Given the description of an element on the screen output the (x, y) to click on. 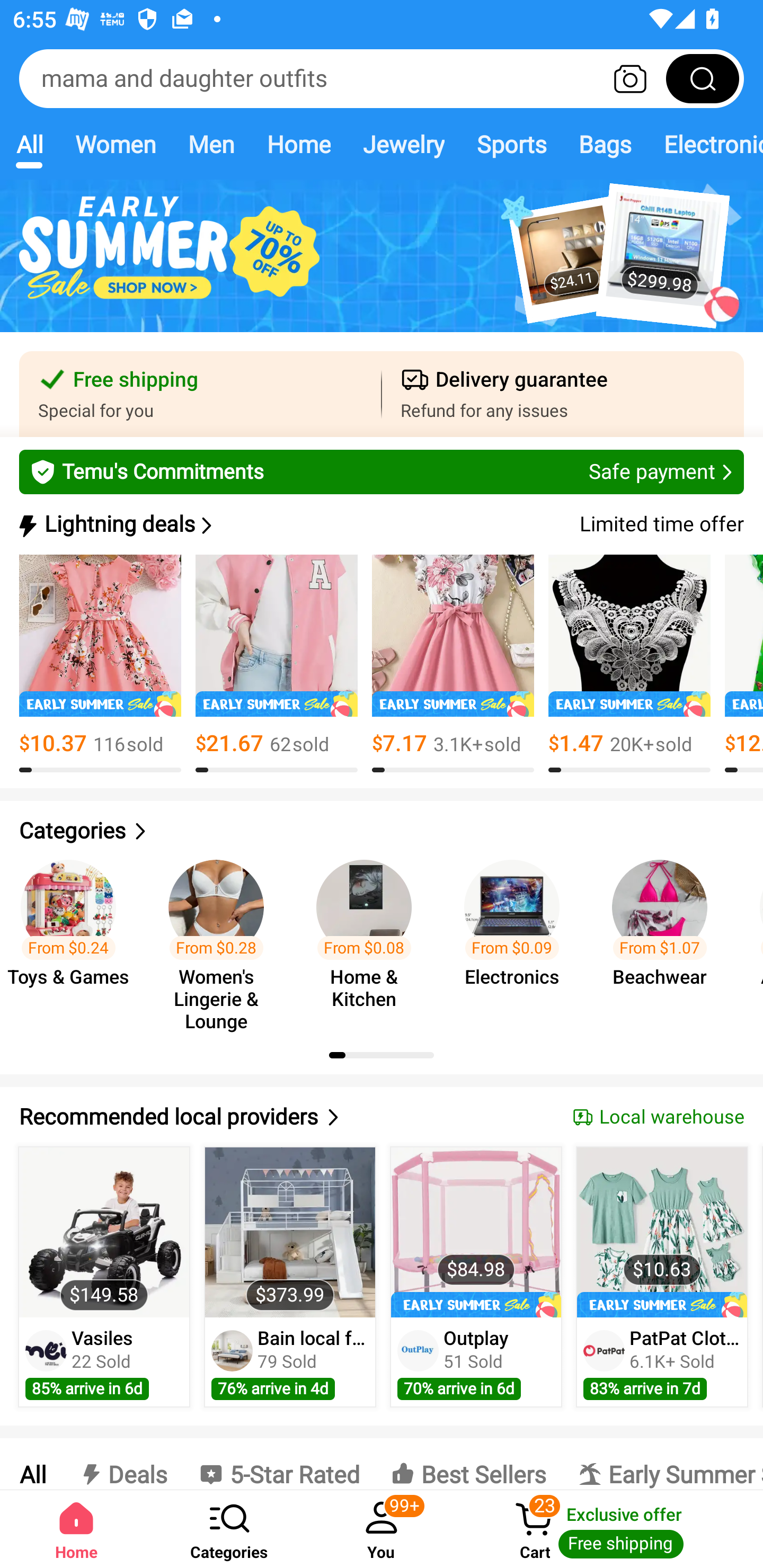
mama and daughter outfits (381, 78)
All (29, 144)
Women (115, 144)
Men (211, 144)
Home (298, 144)
Jewelry (403, 144)
Sports (511, 144)
Bags (605, 144)
Electronics (705, 144)
$24.11 $299.98 (381, 265)
Free shipping Special for you (200, 394)
Delivery guarantee Refund for any issues (562, 394)
Temu's Commitments (381, 471)
Lightning deals Lightning deals Limited time offer (379, 524)
$10.37 116￼sold 8.0 (100, 664)
$21.67 62￼sold 8.0 (276, 664)
$7.17 3.1K+￼sold 8.0 (453, 664)
$1.47 20K+￼sold 8.0 (629, 664)
Categories (381, 830)
From $0.24 Toys & Games (74, 936)
From $0.28 Women's Lingerie & Lounge (222, 936)
From $0.08 Home & Kitchen (369, 936)
From $0.09 Electronics (517, 936)
From $1.07 Beachwear (665, 936)
$149.58 Vasiles 22 Sold 85% arrive in 6d (103, 1276)
$84.98 Outplay 51 Sold 70% arrive in 6d (475, 1276)
$10.63 PatPat Clothing 6.1K+ Sold 83% arrive in 7d (661, 1276)
$149.58 (104, 1232)
$373.99 (290, 1232)
$84.98 (475, 1232)
$10.63 (661, 1232)
All (32, 1463)
Deals Deals Deals (122, 1463)
5-Star Rated 5-Star Rated 5-Star Rated (279, 1463)
Best Sellers Best Sellers Best Sellers (468, 1463)
Home (76, 1528)
Categories (228, 1528)
You ‎99+‎ You (381, 1528)
Cart 23 Cart Exclusive offer (610, 1528)
